Given the description of an element on the screen output the (x, y) to click on. 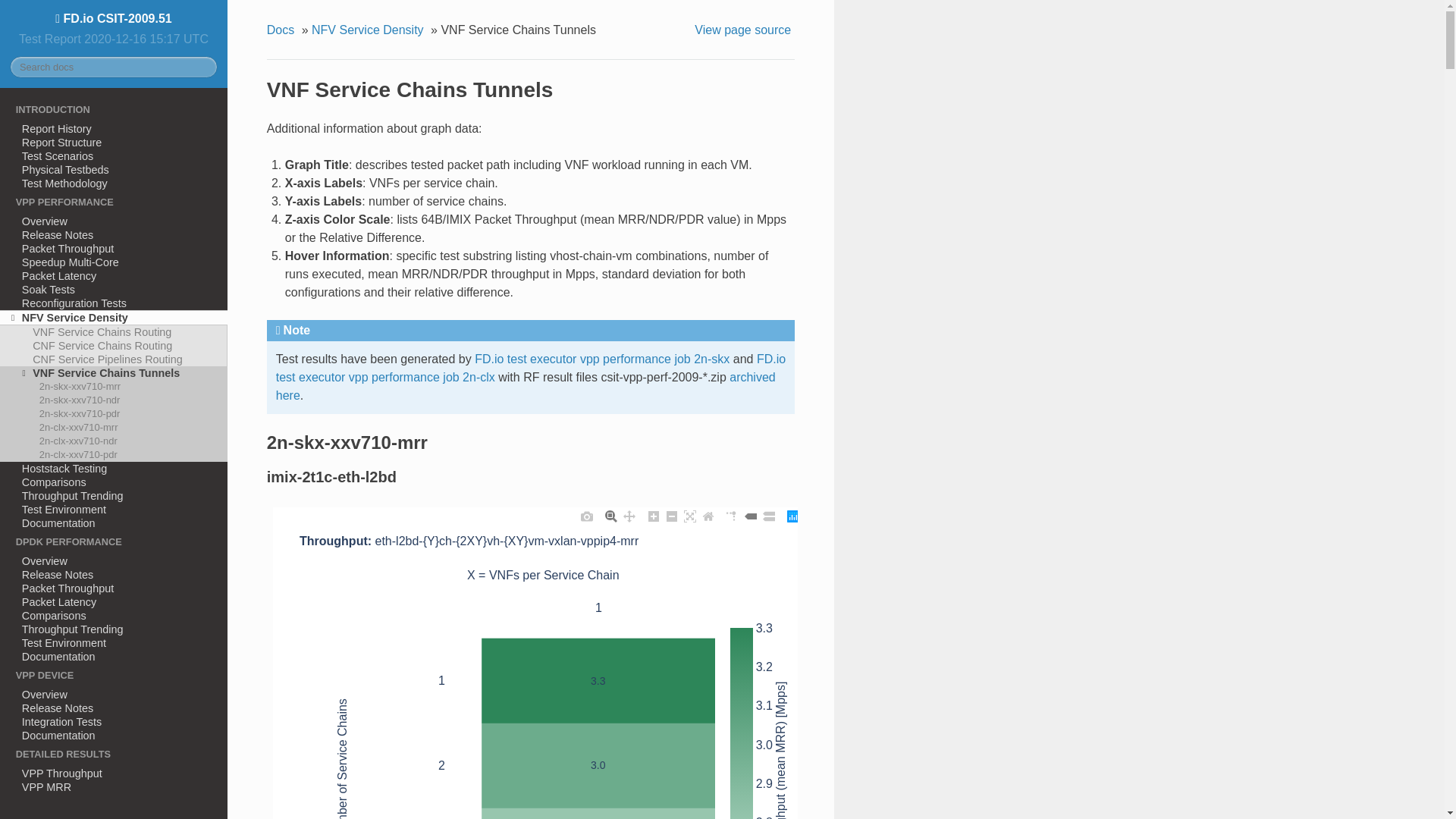
2n-clx-xxv710-ndr (113, 440)
Test Environment (113, 643)
CNF Service Pipelines Routing (113, 359)
Throughput Trending (113, 495)
Report Structure (113, 142)
2n-skx-xxv710-pdr (113, 413)
Overview (113, 694)
Test Environment (113, 509)
2n-skx-xxv710-ndr (113, 400)
Packet Latency (113, 602)
Physical Testbeds (113, 169)
Integration Tests (113, 721)
VNF Service Chains Tunnels (113, 373)
Throughput Trending (113, 629)
Overview (113, 561)
